Given the description of an element on the screen output the (x, y) to click on. 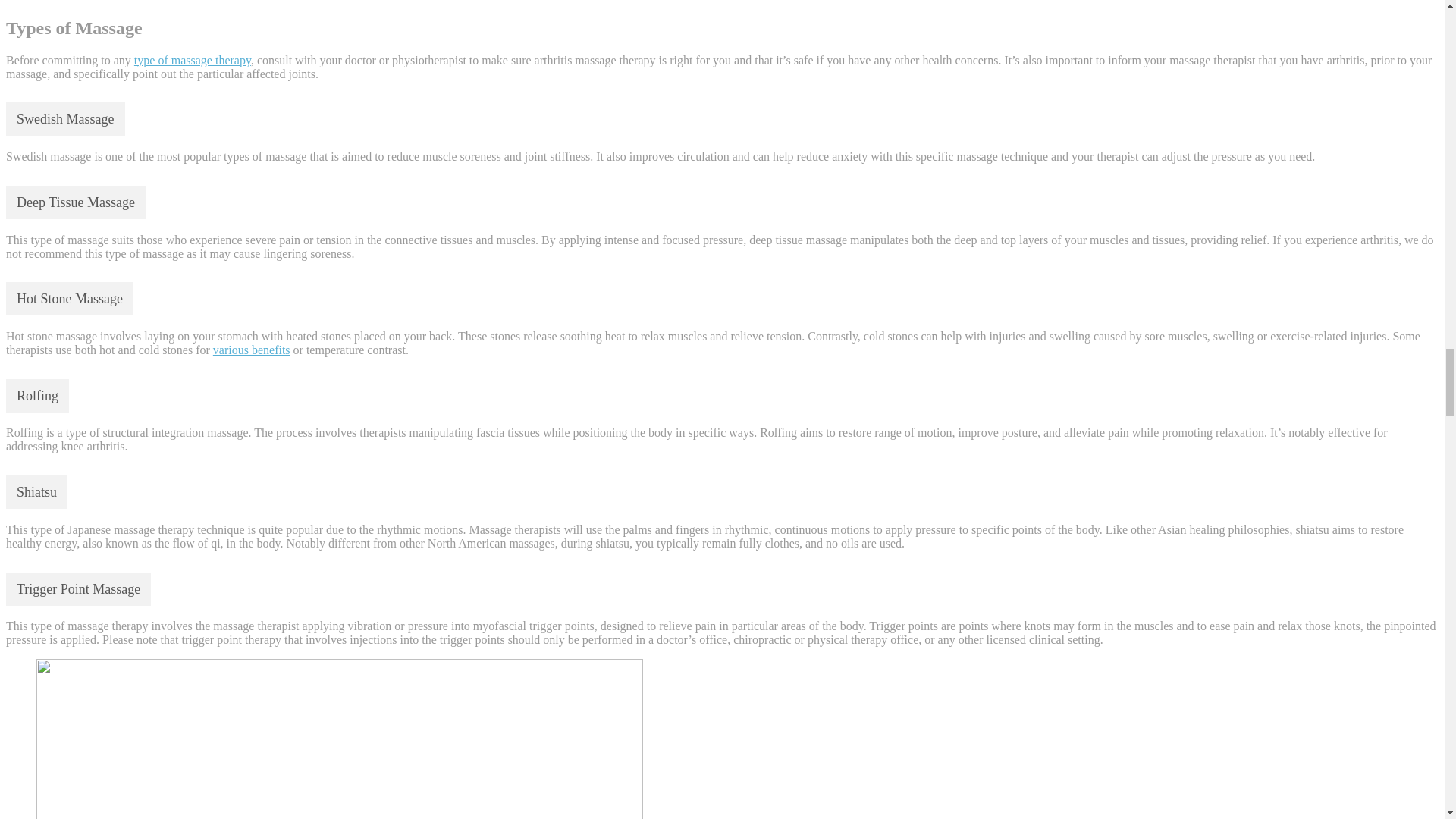
Rolfing (36, 395)
Hot Stone Massage (69, 298)
type of massage therapy (191, 60)
Trigger Point Massage (78, 589)
various benefits (250, 349)
Deep Tissue Massage (75, 202)
Swedish Massage (65, 118)
Shiatsu (35, 491)
